Given the description of an element on the screen output the (x, y) to click on. 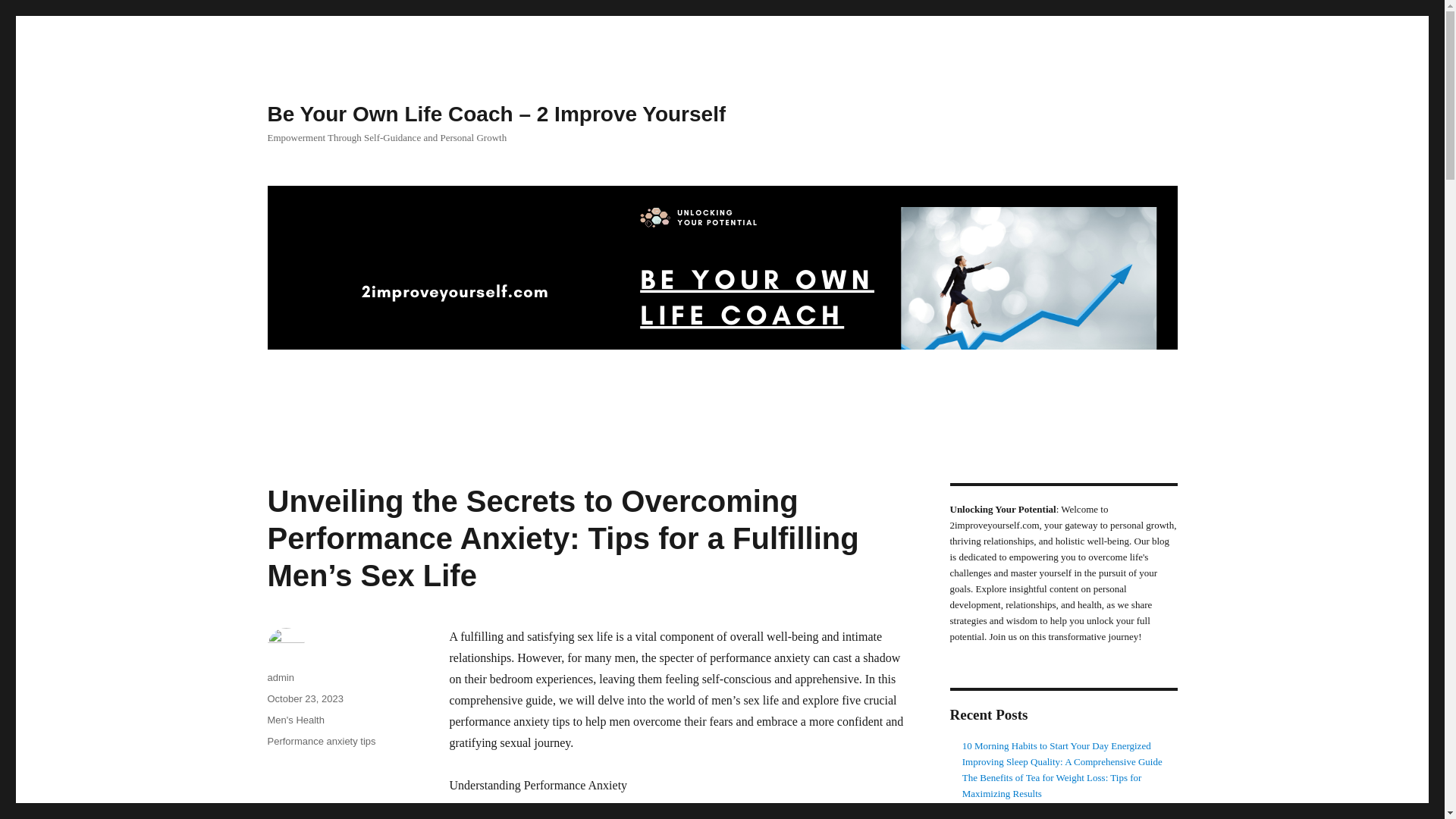
October 23, 2023 (304, 698)
admin (280, 677)
10 Morning Habits to Start Your Day Energized (1056, 745)
How to Eliminate Past Regrets and Future Worries (1061, 808)
Men's Health (294, 719)
Improving Sleep Quality: A Comprehensive Guide (1061, 761)
Performance anxiety tips (320, 740)
